Given the description of an element on the screen output the (x, y) to click on. 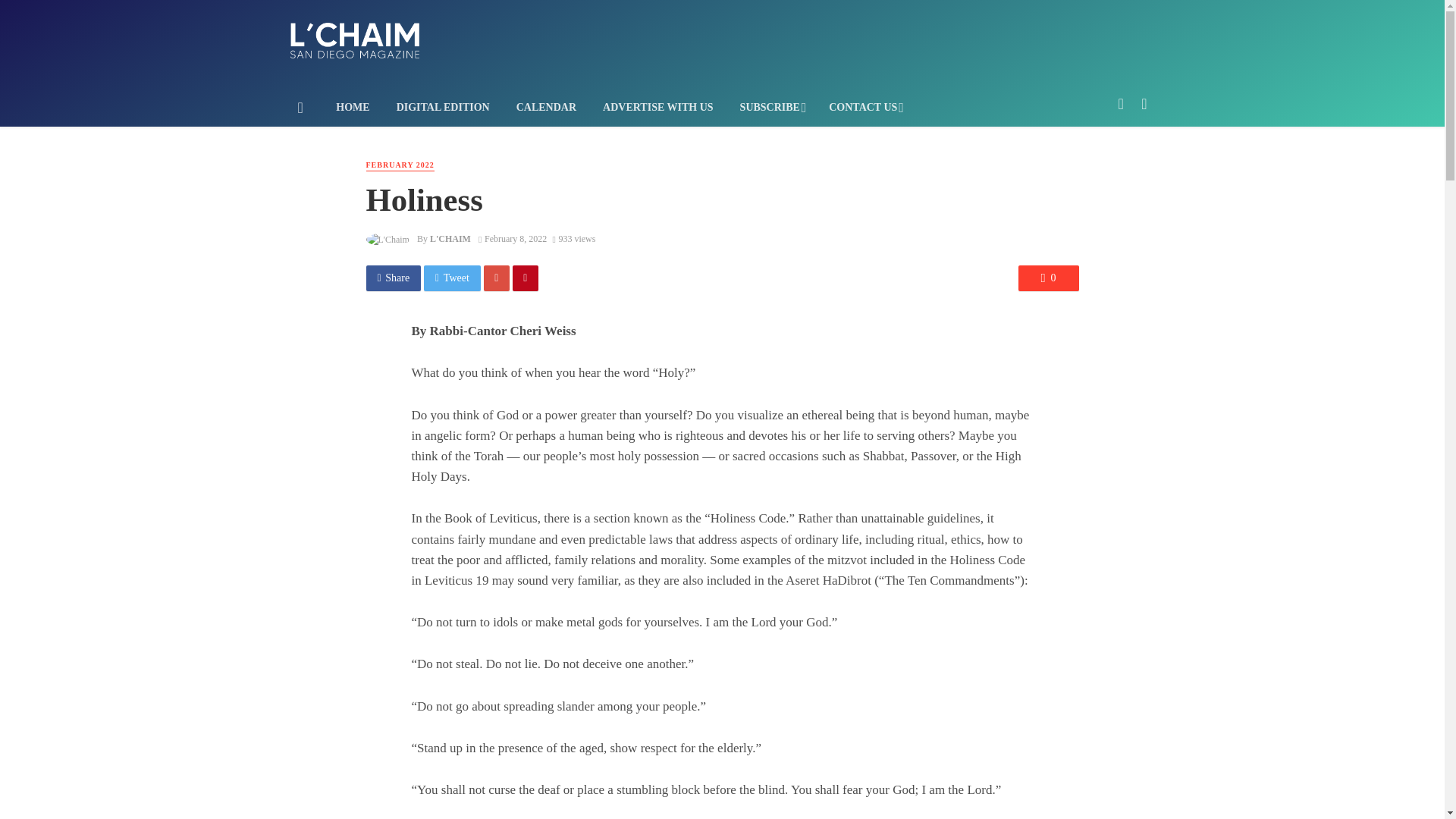
Share on Facebook (392, 278)
Share on Twitter (451, 278)
0 (1047, 278)
CONTACT US (863, 107)
ADVERTISE WITH US (657, 107)
SUBSCRIBE (770, 107)
HOME (352, 107)
Posts by L'Chaim (449, 238)
L'CHAIM (449, 238)
February 8, 2022 at 4:35 am (513, 238)
